Given the description of an element on the screen output the (x, y) to click on. 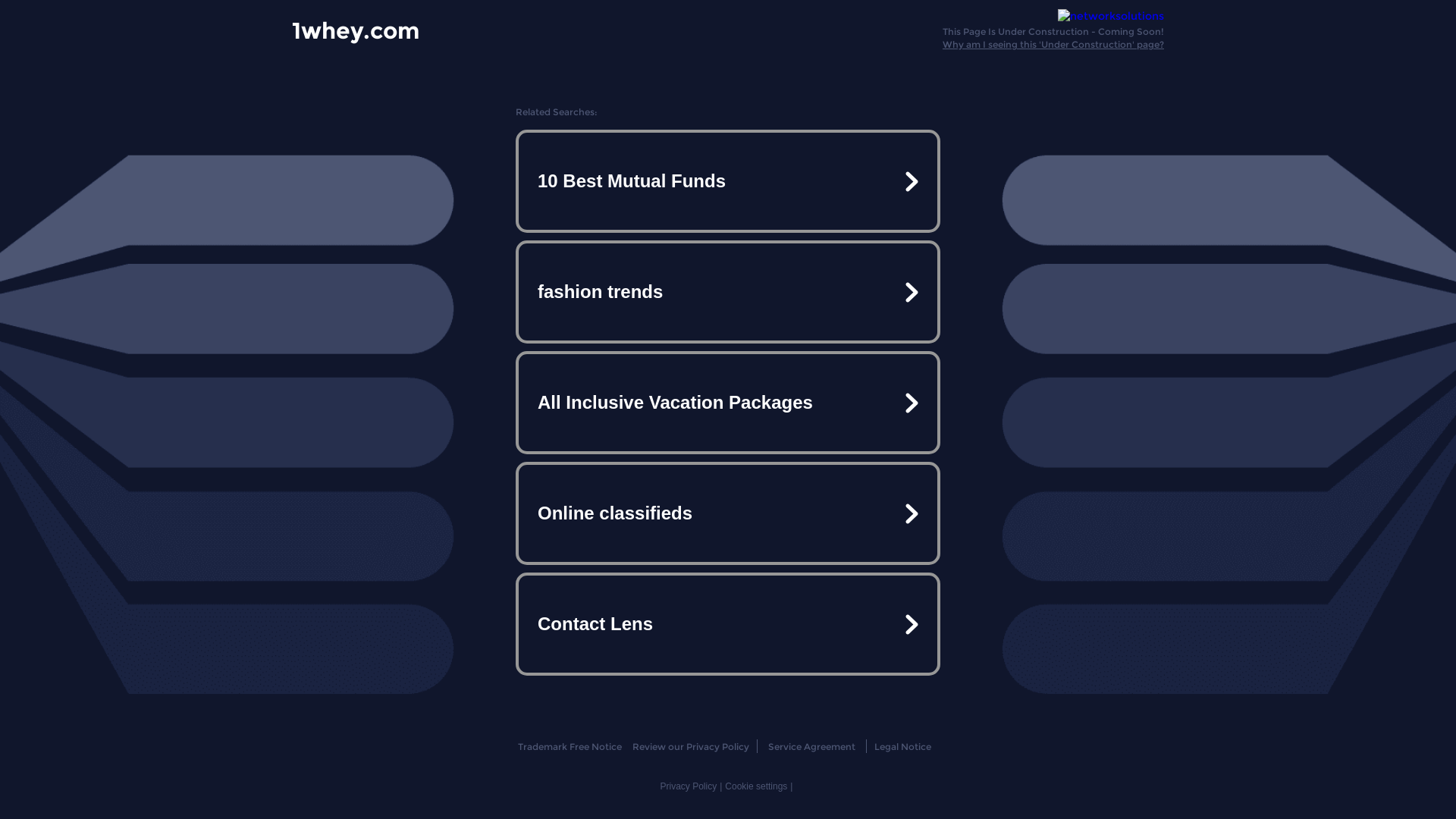
Trademark Free Notice Element type: text (569, 746)
Contact Lens Element type: text (727, 623)
All Inclusive Vacation Packages Element type: text (727, 402)
10 Best Mutual Funds Element type: text (727, 180)
1whey.com Element type: text (355, 29)
Why am I seeing this 'Under Construction' page? Element type: text (1053, 44)
Legal Notice Element type: text (901, 746)
Online classifieds Element type: text (727, 512)
Service Agreement Element type: text (810, 746)
Privacy Policy Element type: text (687, 786)
Cookie settings Element type: text (755, 786)
fashion trends Element type: text (727, 291)
Review our Privacy Policy Element type: text (690, 746)
